Given the description of an element on the screen output the (x, y) to click on. 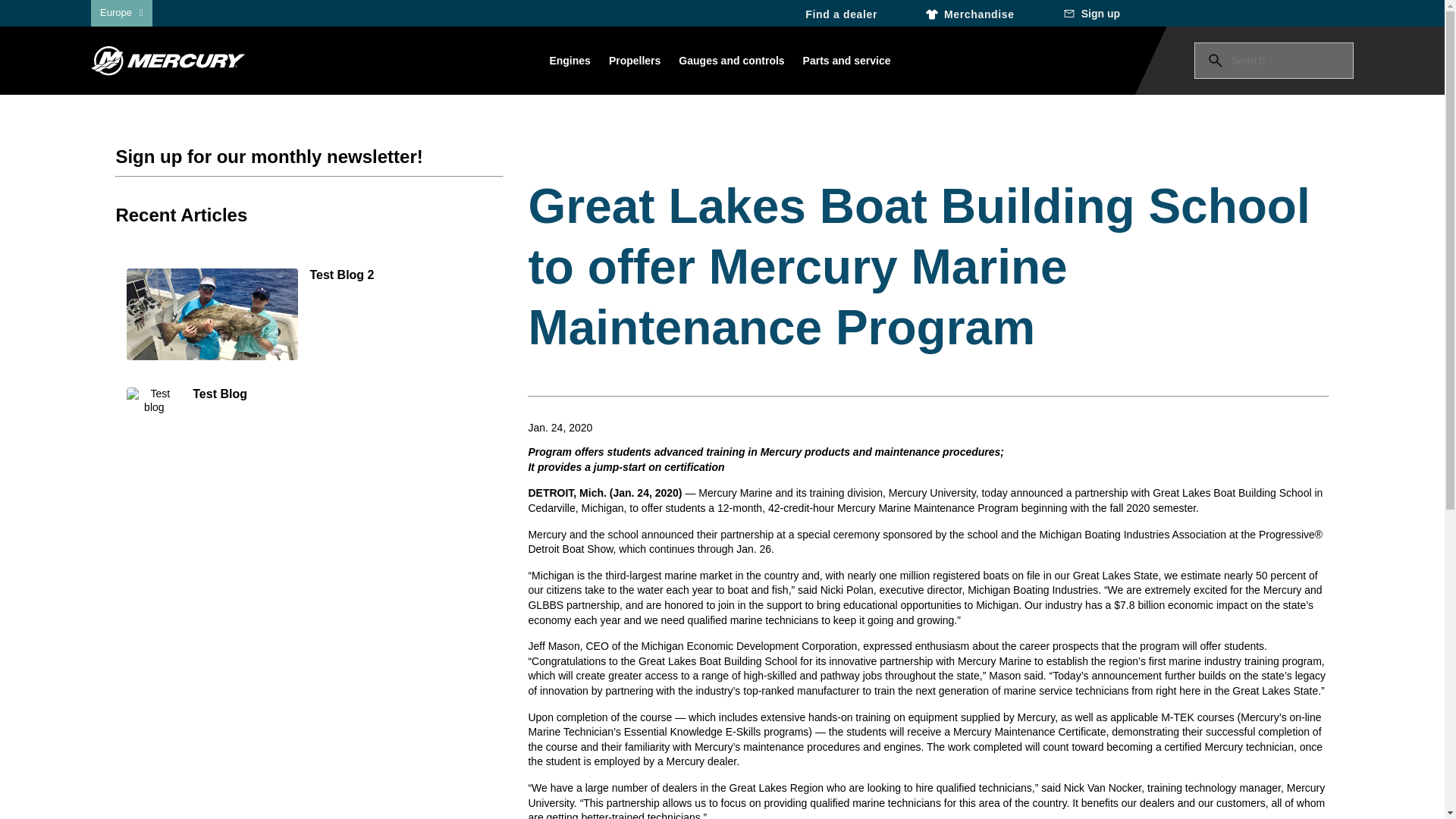
Merchandise (970, 13)
Test blog 2 (309, 315)
Europe (121, 12)
Find a dealer (834, 13)
Test blog (192, 401)
Europe (121, 12)
